Given the description of an element on the screen output the (x, y) to click on. 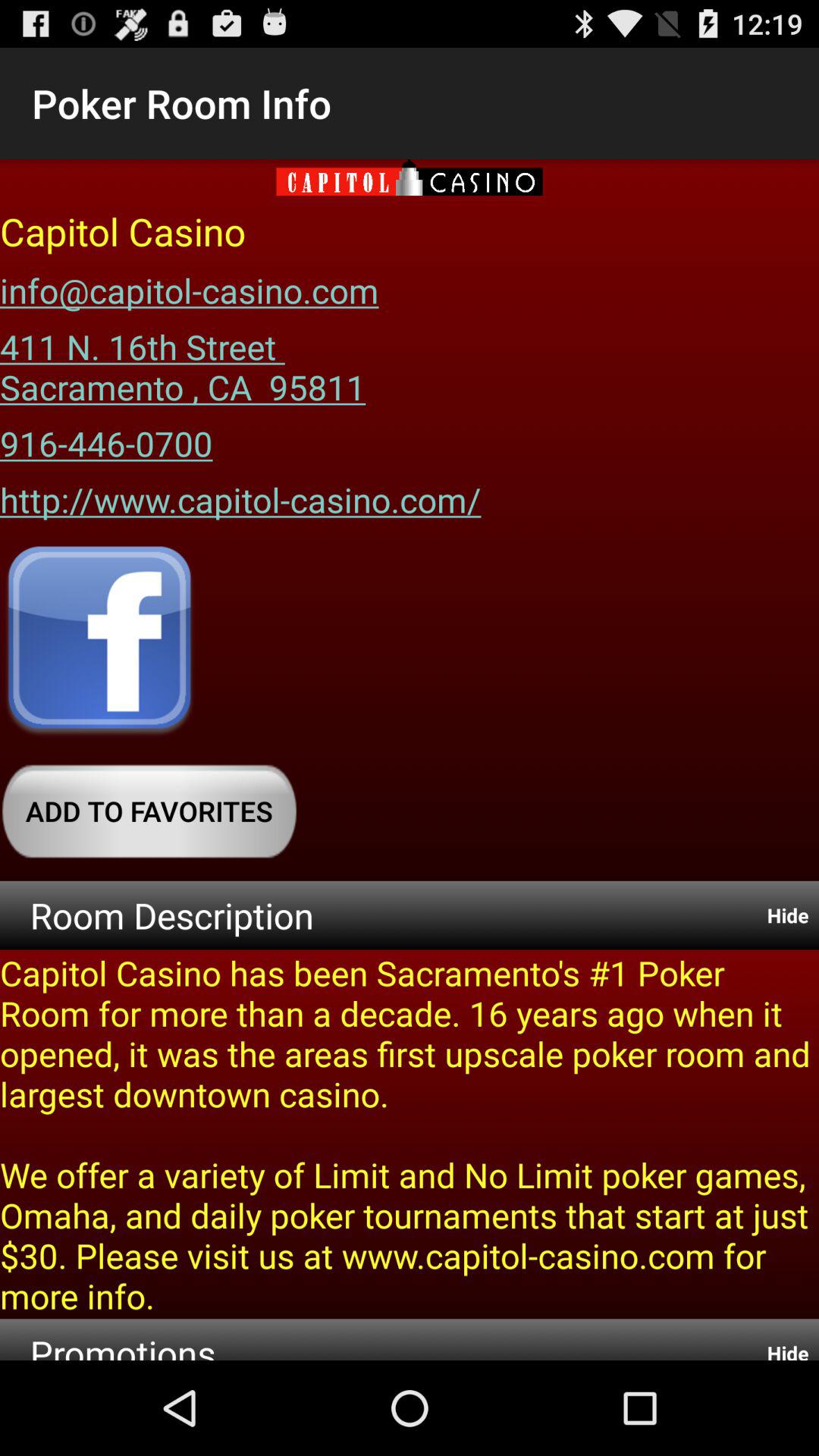
click http www capitol item (240, 494)
